Given the description of an element on the screen output the (x, y) to click on. 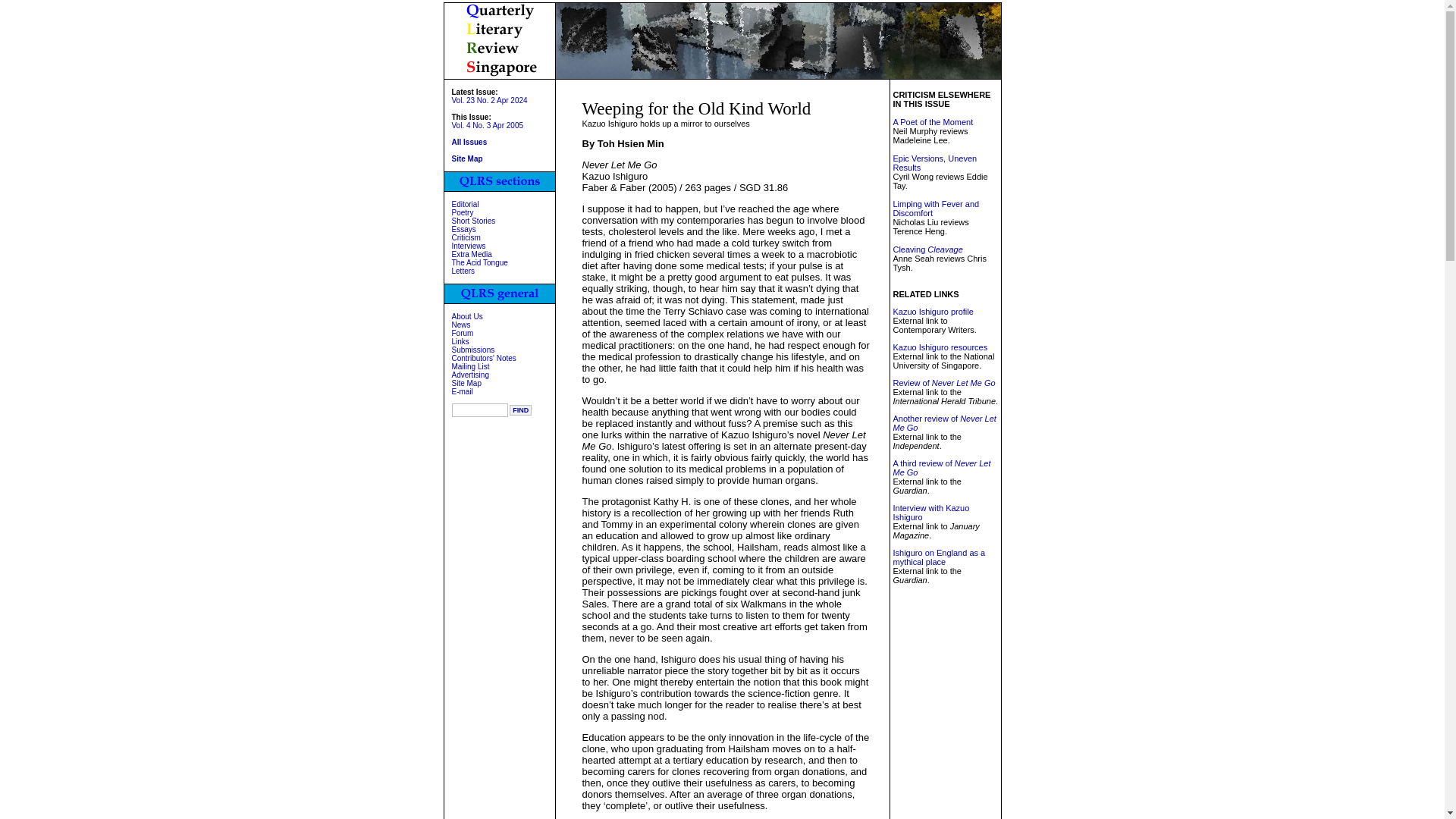
FIND (520, 409)
All Issues (469, 142)
Mailing List (470, 366)
Advertising (470, 375)
Epic Versions, Uneven Results (934, 162)
About Us (467, 316)
Poetry (462, 212)
News (460, 325)
Forum (462, 333)
Vol. 4 No. 3 Apr 2005 (487, 125)
E-mail (462, 391)
Submissions (473, 349)
Cleaving Cleavage (927, 248)
Vol. 23 No. 2 Apr 2024 (489, 100)
Kazuo Ishiguro profile (932, 311)
